Given the description of an element on the screen output the (x, y) to click on. 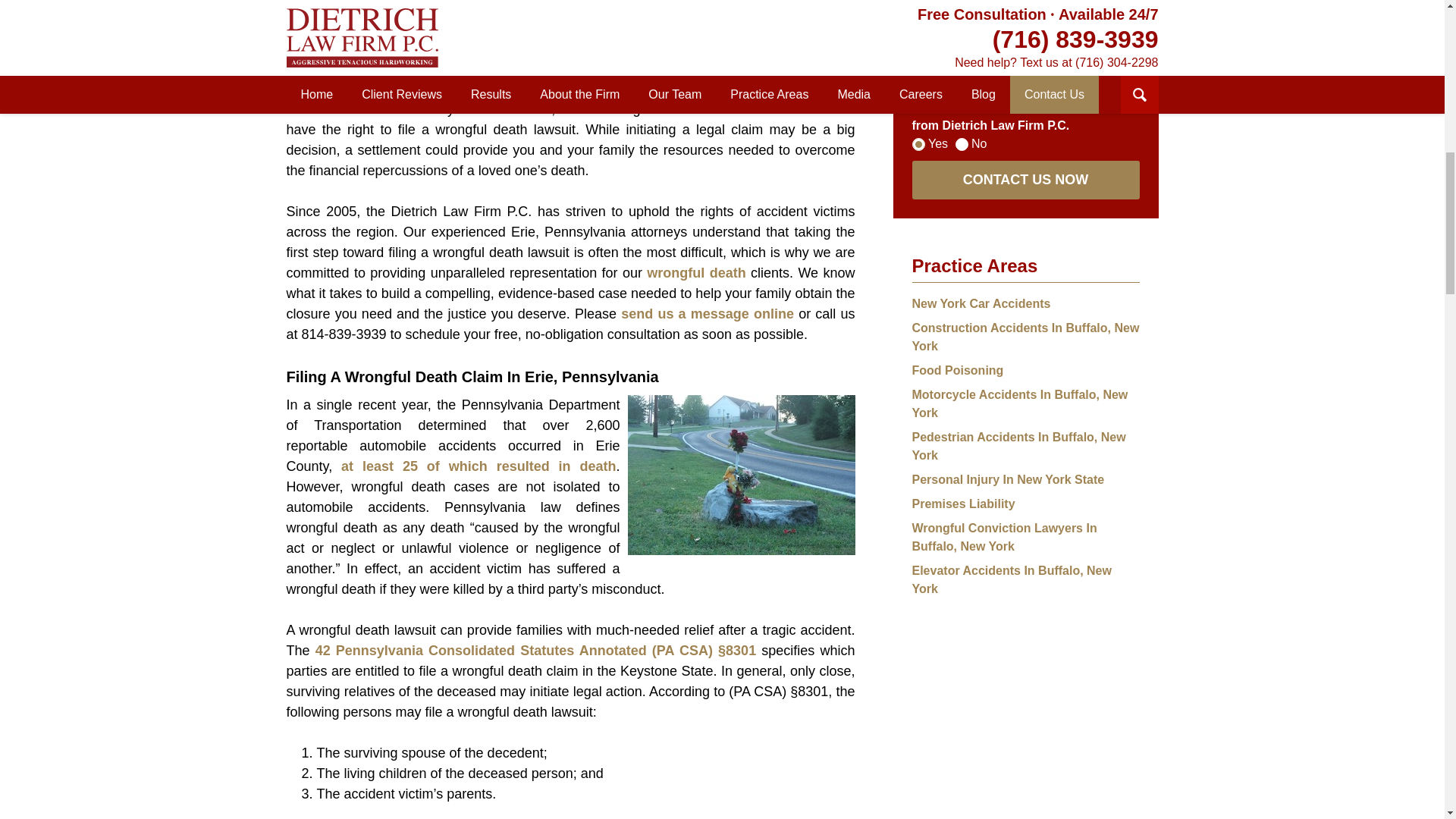
No (961, 144)
Yes (917, 144)
